Given the description of an element on the screen output the (x, y) to click on. 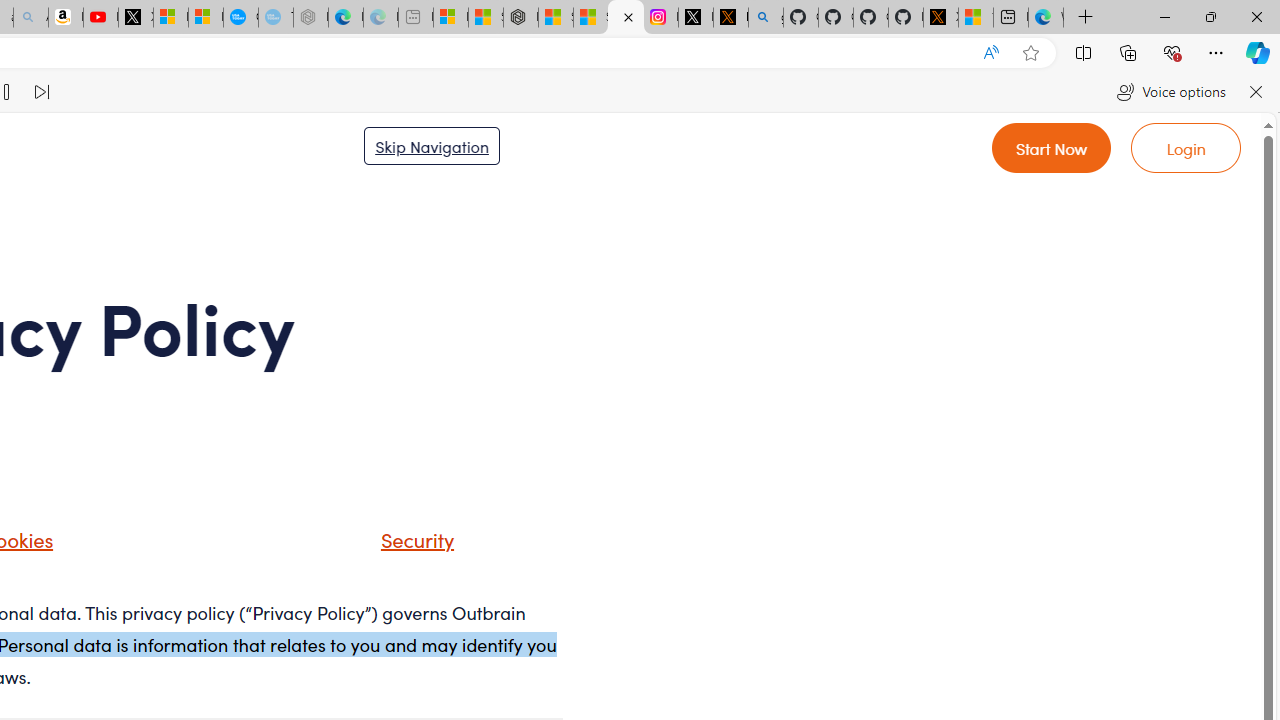
Nordace - Nordace has arrived Hong Kong - Sleeping (310, 17)
Amazon Echo Dot PNG - Search Images - Sleeping (31, 17)
X Privacy Policy (940, 17)
The most popular Google 'how to' searches - Sleeping (275, 17)
Close read aloud (1255, 92)
Opinion: Op-Ed and Commentary - USA TODAY (241, 17)
